Given the description of an element on the screen output the (x, y) to click on. 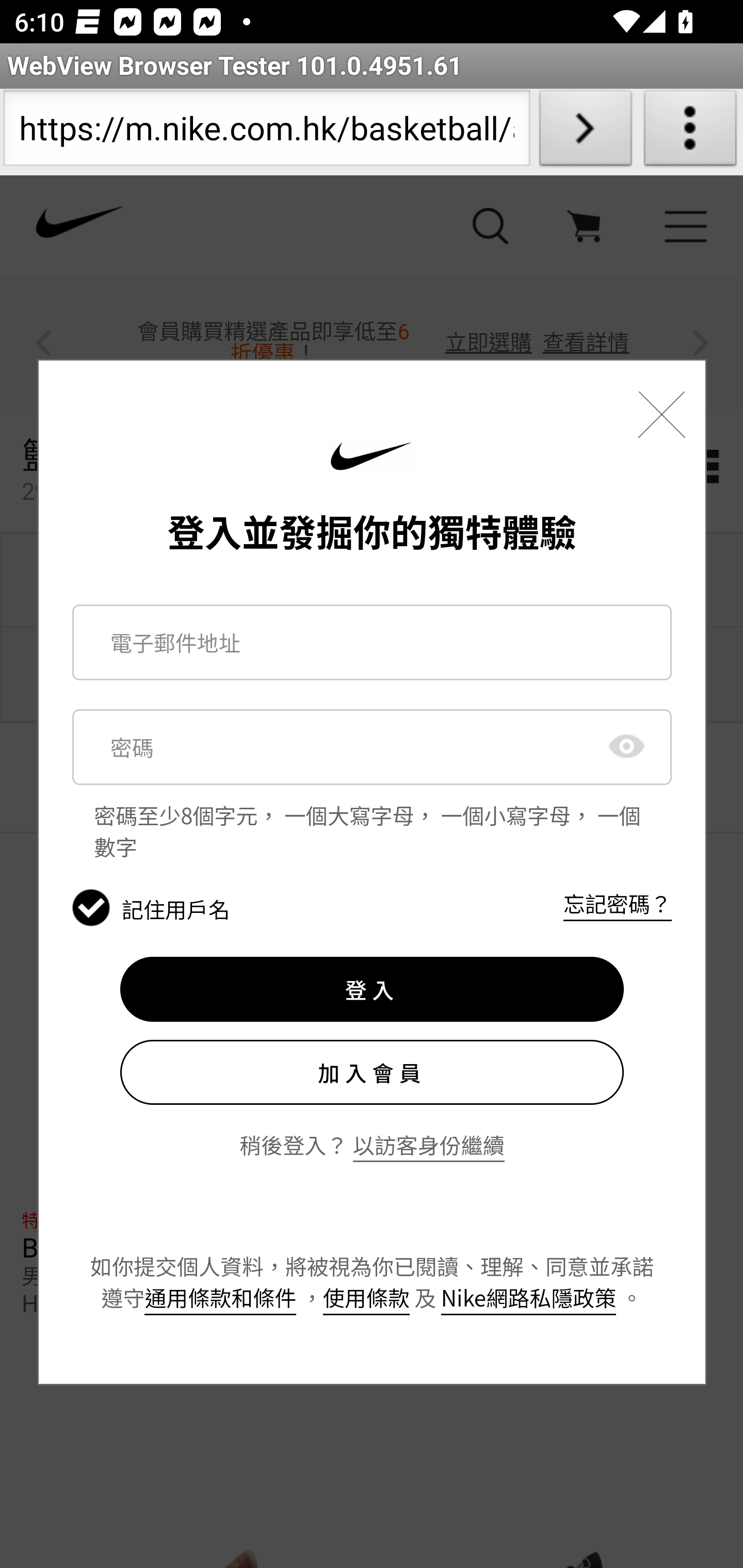
Load URL (585, 132)
About WebView (690, 132)
忘記密碼？ (617, 903)
登入 (371, 988)
加入會員 (371, 1071)
通用條款和條件 (220, 1297)
使用條款 (365, 1297)
Nike網路私隱政策 (528, 1297)
